Given the description of an element on the screen output the (x, y) to click on. 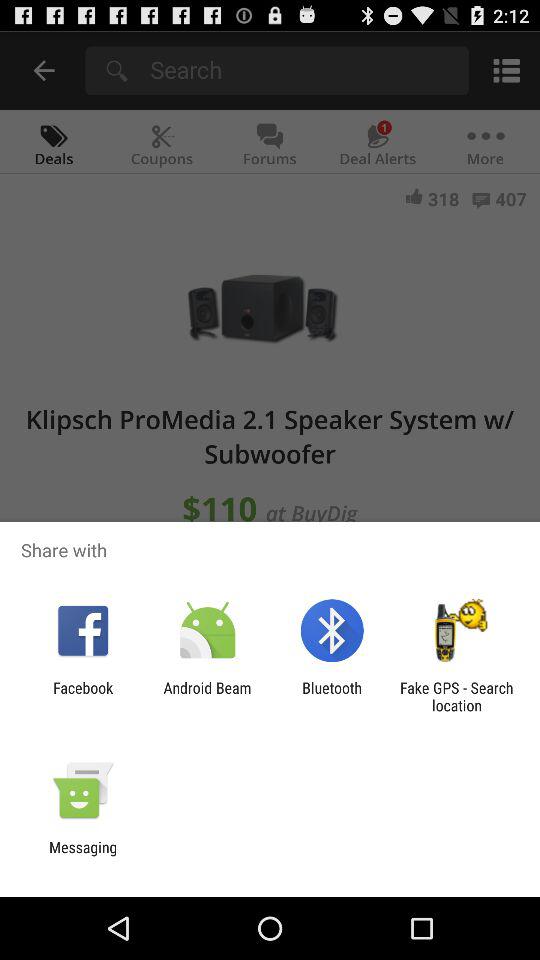
open the messaging icon (83, 856)
